Given the description of an element on the screen output the (x, y) to click on. 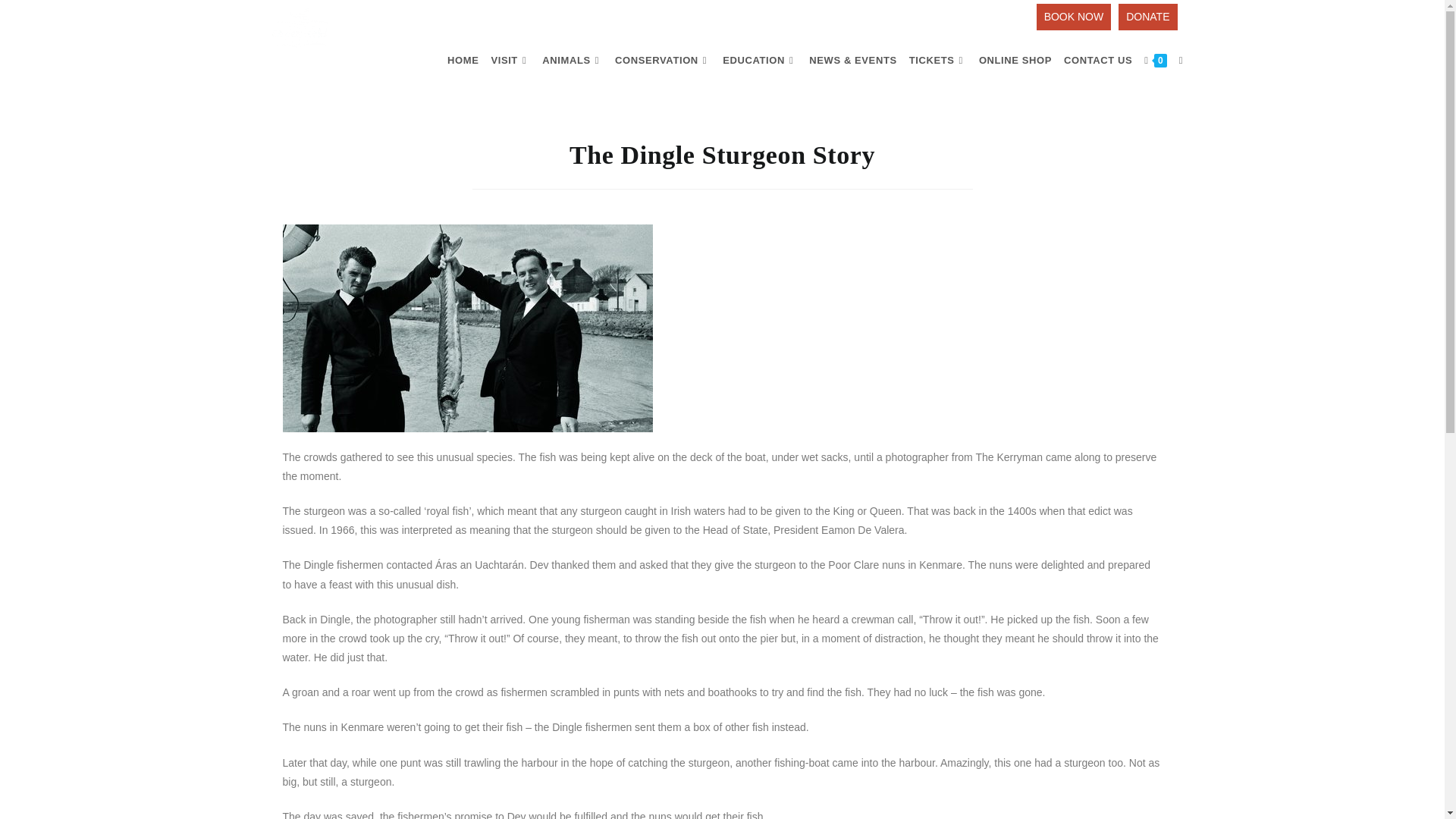
VISIT (509, 60)
BOOK NOW (1074, 17)
ANIMALS (571, 60)
CONSERVATION (662, 60)
EDUCATION (759, 60)
HOME (462, 60)
DONATE (1147, 17)
ONLINE SHOP (1015, 60)
TICKETS (937, 60)
CONTACT US (1098, 60)
